Given the description of an element on the screen output the (x, y) to click on. 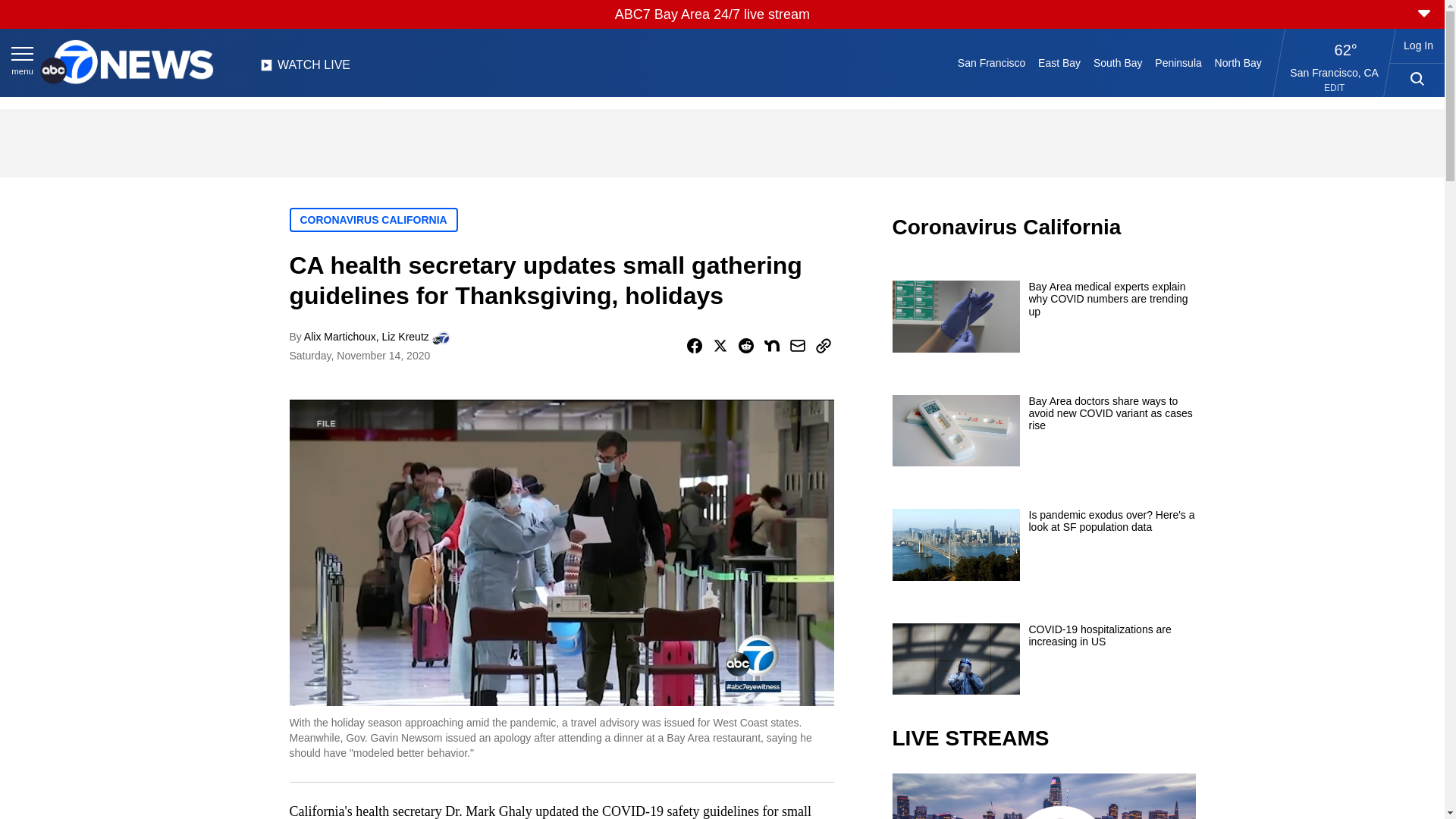
East Bay (1059, 62)
WATCH LIVE (305, 69)
San Francisco, CA (1334, 72)
North Bay (1238, 62)
Peninsula (1178, 62)
South Bay (1117, 62)
San Francisco (990, 62)
EDIT (1333, 87)
